Given the description of an element on the screen output the (x, y) to click on. 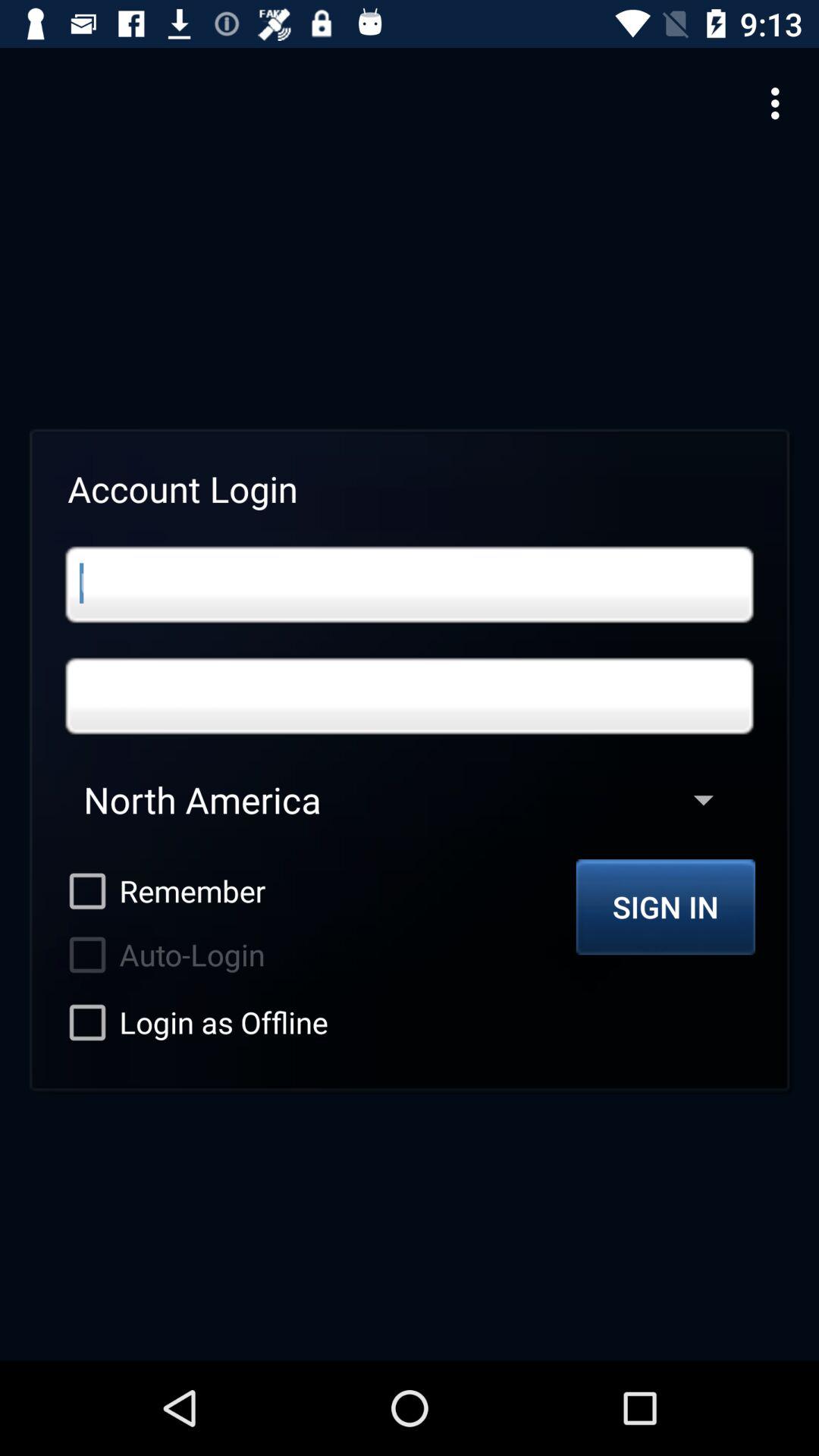
enter username (409, 584)
